Given the description of an element on the screen output the (x, y) to click on. 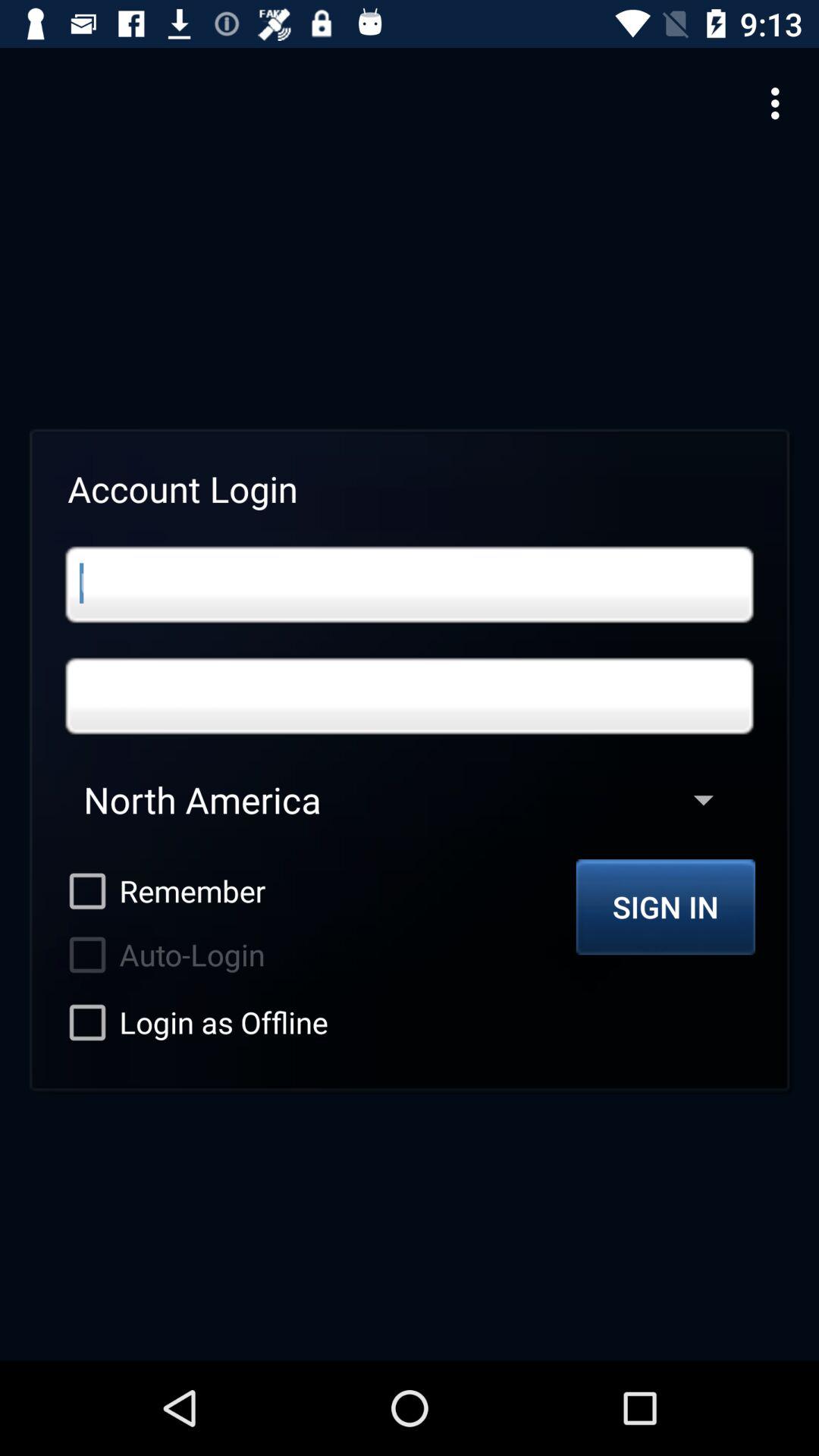
enter username (409, 584)
